Given the description of an element on the screen output the (x, y) to click on. 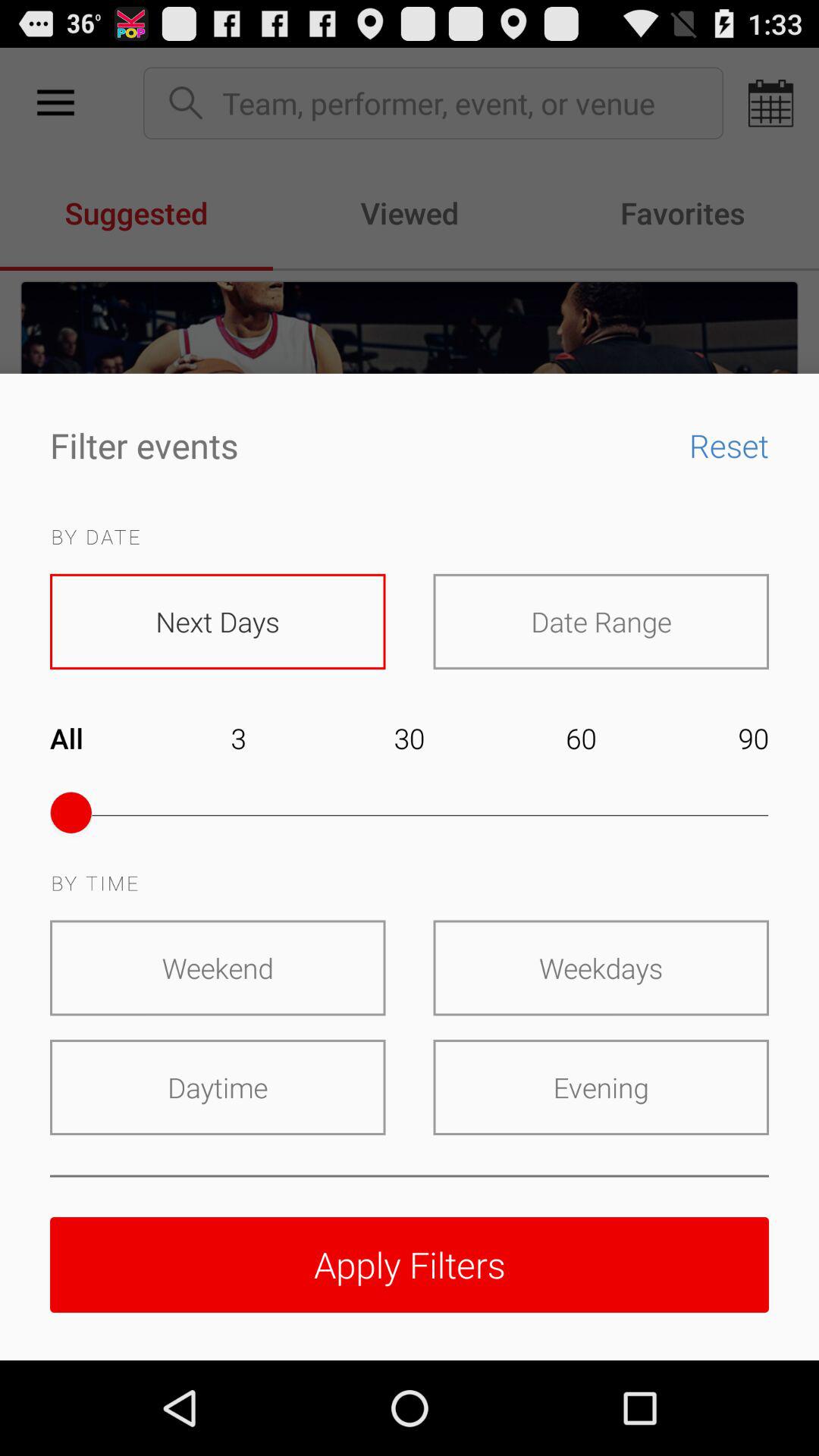
open the evening icon (600, 1087)
